Given the description of an element on the screen output the (x, y) to click on. 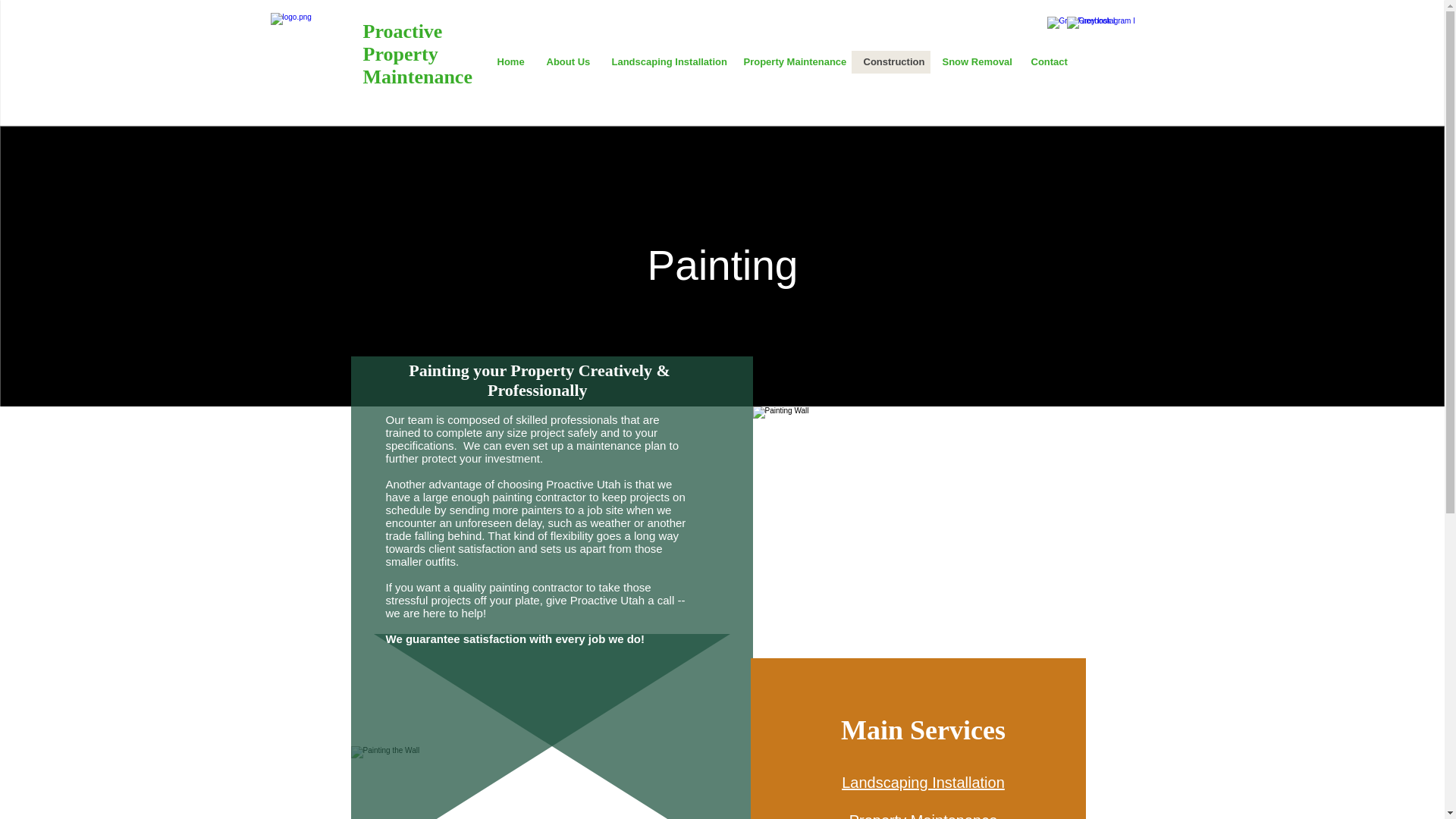
Snow Removal (973, 61)
Landscaping Installation (664, 61)
About Us (566, 61)
Property Maintenance (790, 61)
Property Maintenance (922, 815)
Construction (890, 61)
Contact (1048, 61)
Home (509, 61)
Landscaping Installation (922, 782)
